Given the description of an element on the screen output the (x, y) to click on. 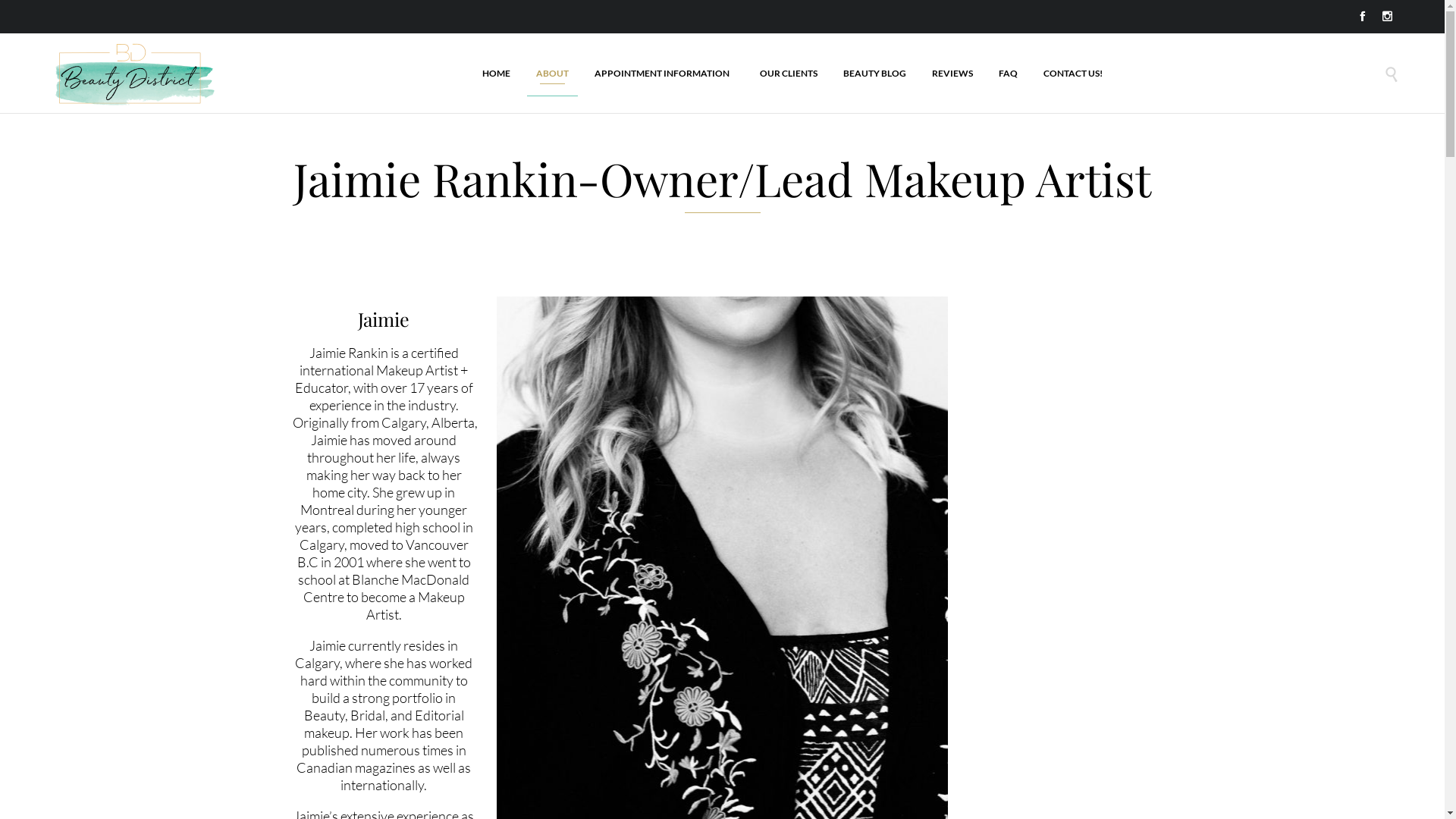
Beauty District Element type: text (106, 791)
FAQ Element type: text (1007, 73)
BEAUTY BLOG Element type: text (874, 73)
ABOUT Element type: text (552, 73)
Skip to content Element type: text (1118, 50)
REVIEWS Element type: text (952, 73)
APPOINTMENT INFORMATION Element type: text (664, 73)
HOME Element type: text (496, 73)
info@beautydistrict.ca Element type: text (721, 700)
Oak & Pine Designs Element type: text (1361, 791)
OUR CLIENTS Element type: text (788, 73)
Beauty District Element type: hover (130, 74)
SUBSCRIBE Element type: text (1082, 677)
CONTACT US! Element type: text (1072, 73)
